Given the description of an element on the screen output the (x, y) to click on. 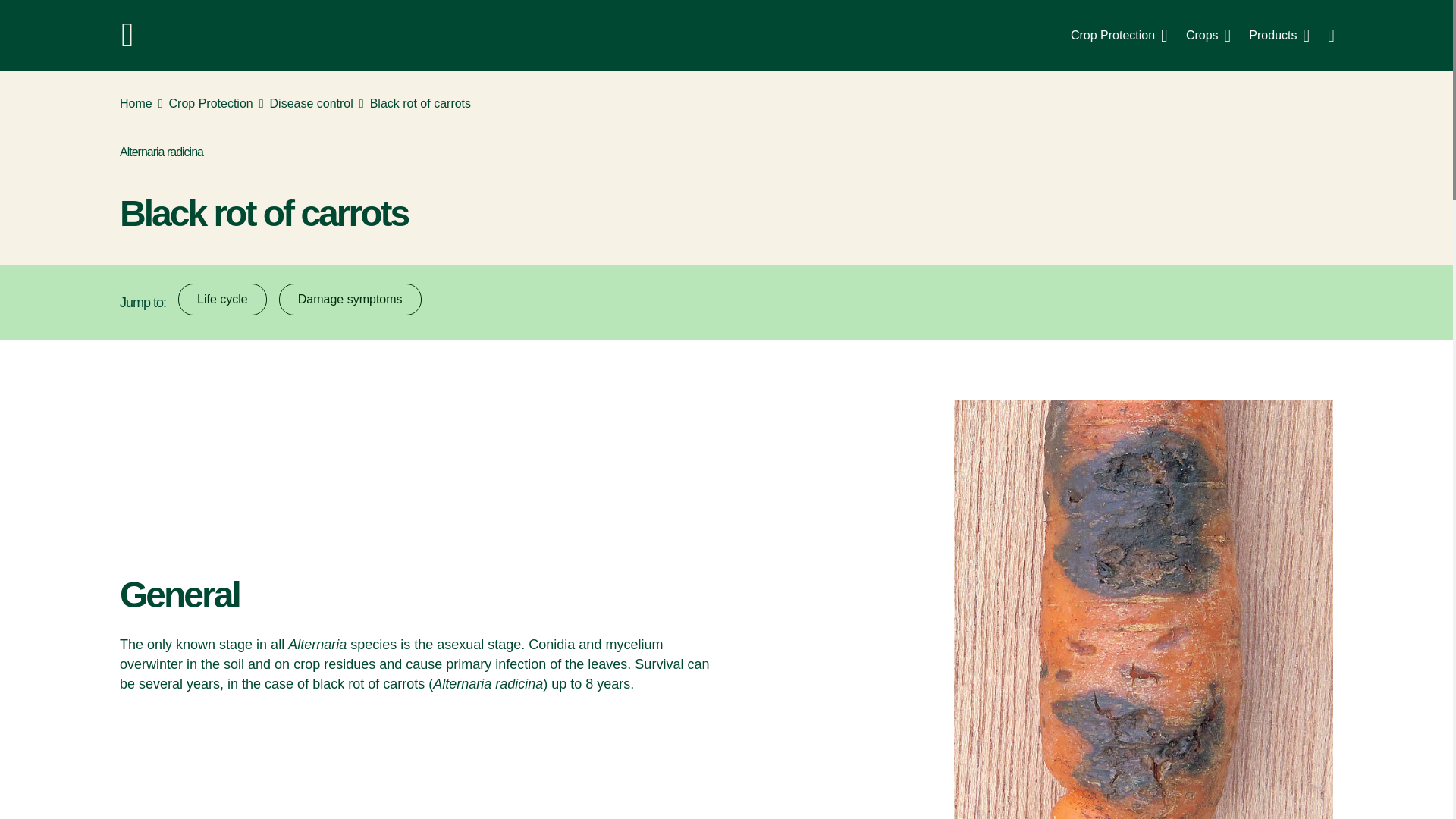
Products (1278, 34)
Crop Protection (1118, 34)
Disease control (311, 104)
Damage symptoms (350, 299)
Life cycle (221, 299)
Crop Protection (210, 104)
Crops (1208, 34)
Home (135, 104)
